Given the description of an element on the screen output the (x, y) to click on. 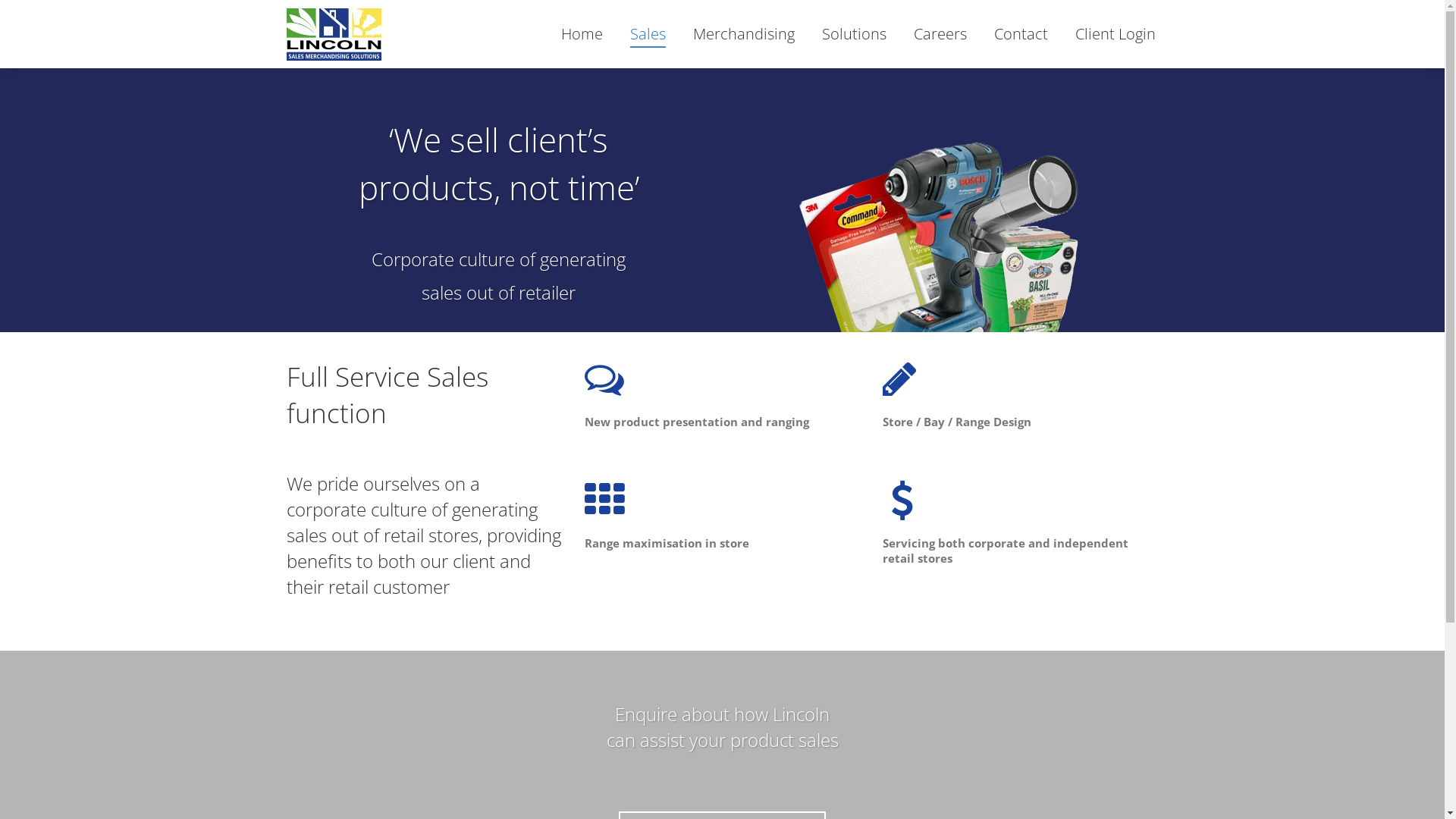
Home Element type: text (581, 33)
Sales Element type: text (647, 33)
Careers Element type: text (939, 33)
Solutions Element type: text (854, 33)
products_bunch1 - Copy Element type: hover (946, 225)
Contact Element type: text (1020, 33)
Client Login Element type: text (1115, 33)
Merchandising Element type: text (743, 33)
